Given the description of an element on the screen output the (x, y) to click on. 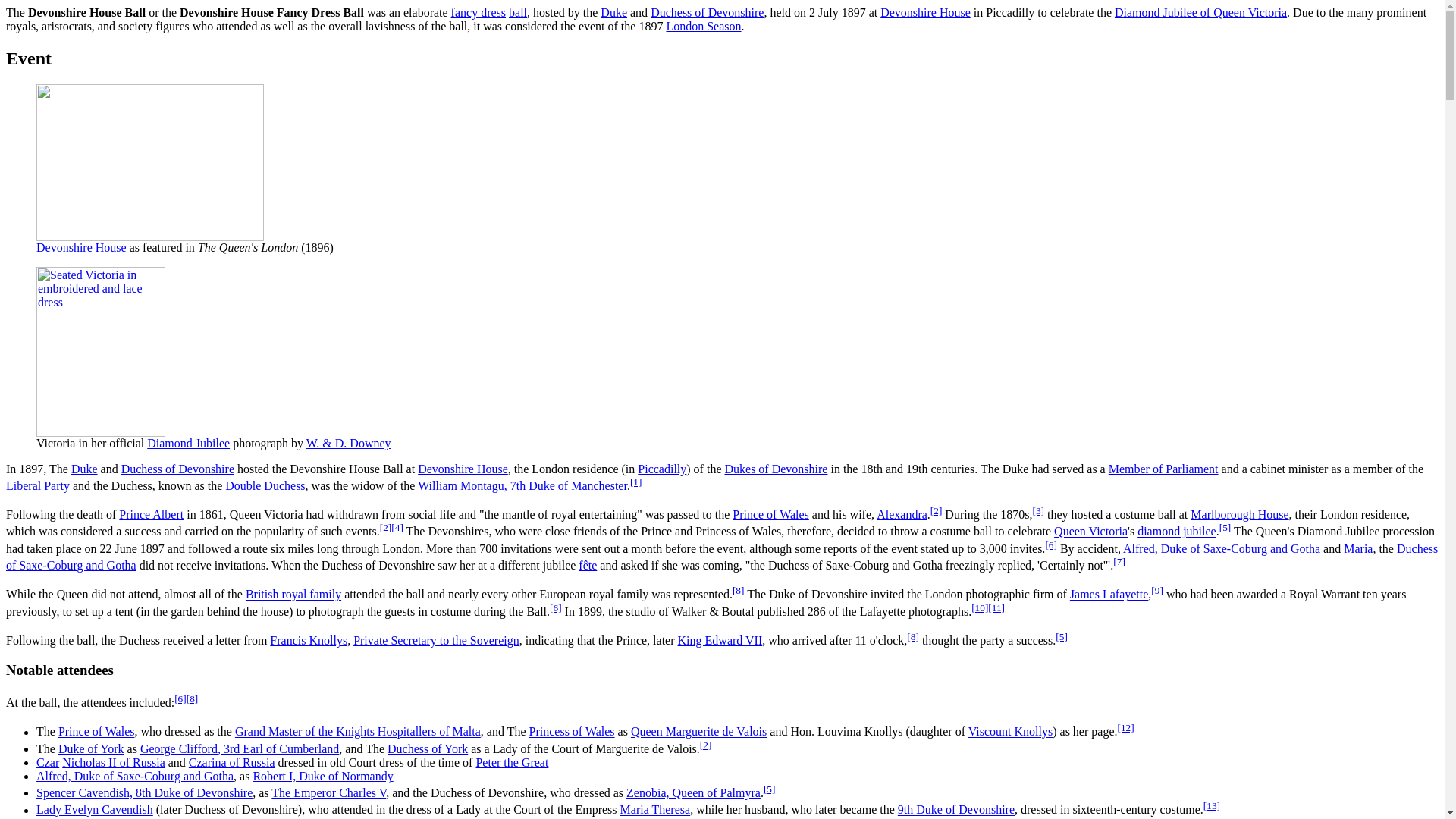
fancy dress (478, 11)
Spencer Cavendish, 8th Duke of Devonshire (613, 11)
Queen Victoria (1090, 531)
Diamond Jubilee (188, 442)
Devonshire House (81, 246)
Alexandra (901, 513)
Liberal Party (37, 485)
Member of Parliament (1163, 468)
Duchess of Saxe-Coburg and Gotha (721, 556)
Devonshire House (81, 246)
Double Duchess (264, 485)
Devonshire House (462, 468)
Diamond Jubilee (188, 442)
Double Duchess (264, 485)
Duke of Devonshire (775, 468)
